Given the description of an element on the screen output the (x, y) to click on. 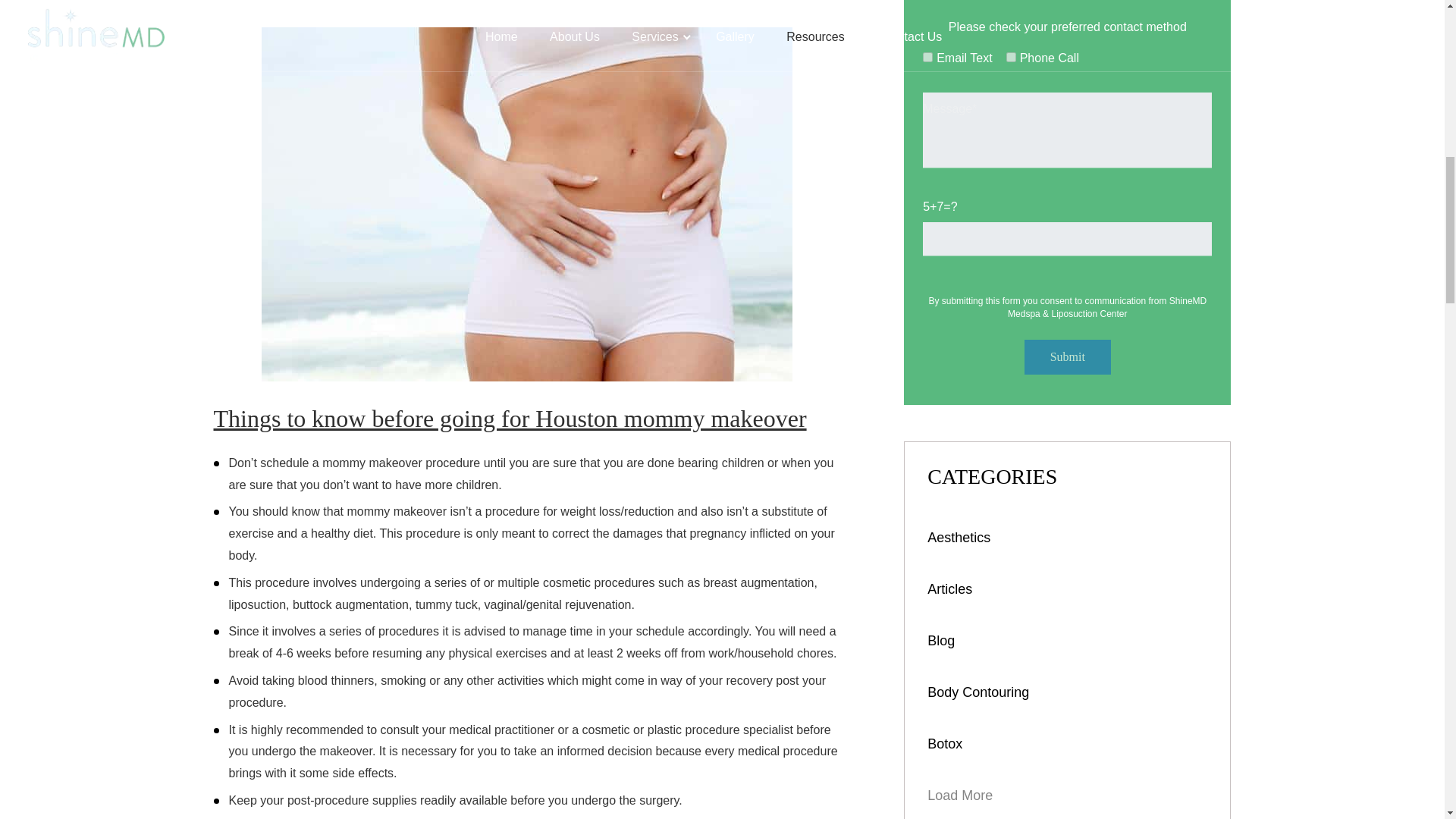
Phone Call (1011, 57)
Email Text (928, 57)
Submit (1067, 356)
